Given the description of an element on the screen output the (x, y) to click on. 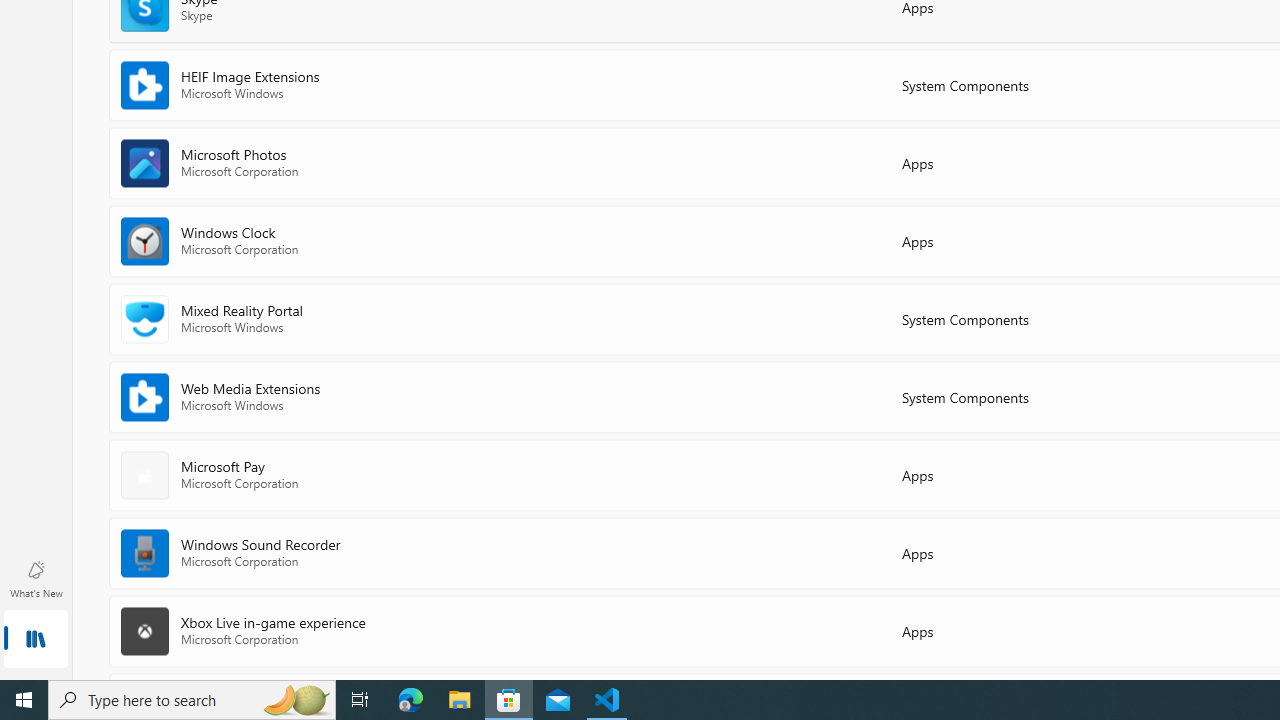
What's New (35, 578)
Library (35, 640)
